Given the description of an element on the screen output the (x, y) to click on. 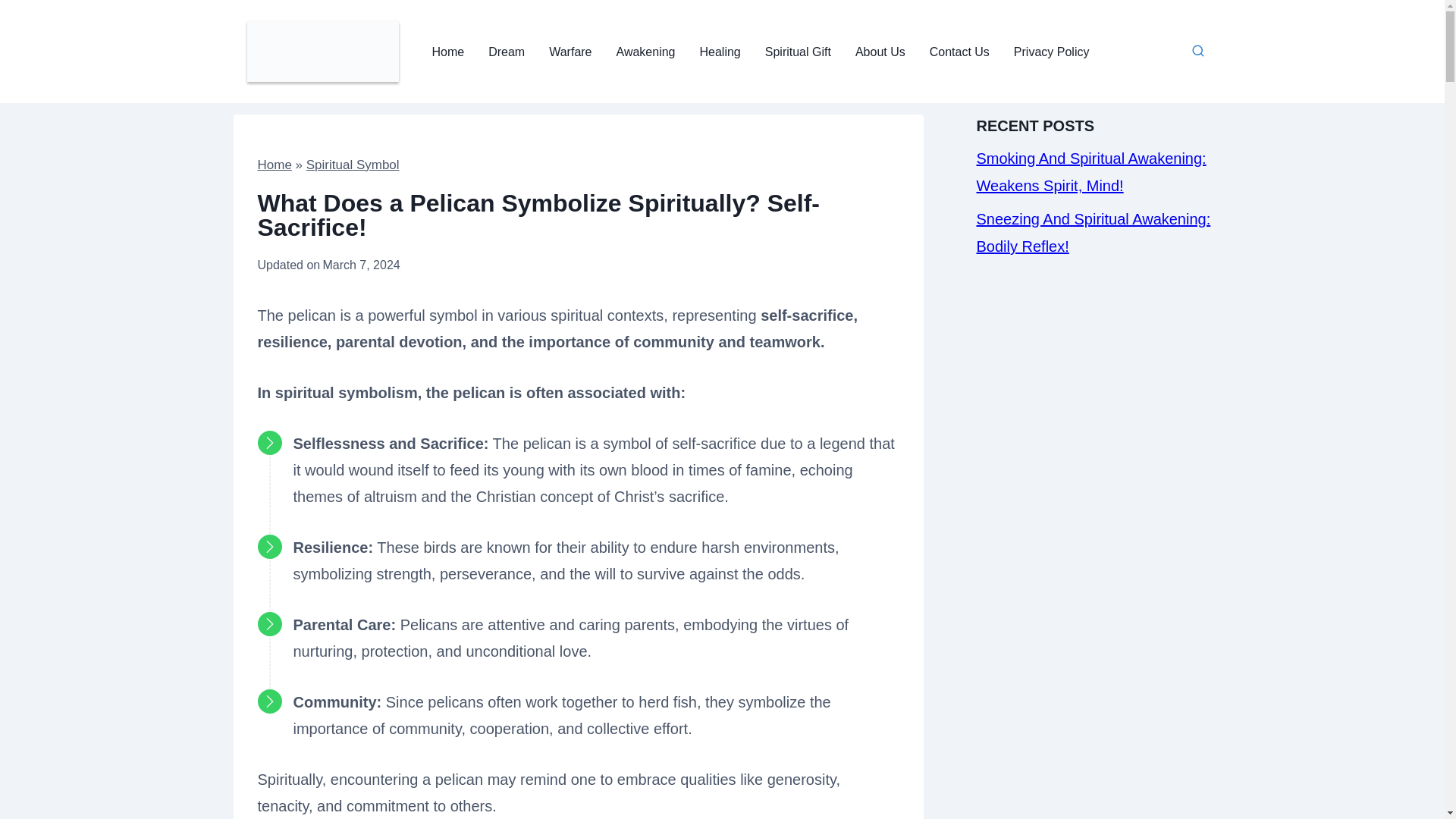
Warfare (570, 51)
Contact Us (959, 51)
Awakening (645, 51)
Dream (506, 51)
Home (274, 164)
Healing (719, 51)
Home (448, 51)
Spiritual Symbol (351, 164)
About Us (880, 51)
Privacy Policy (1051, 51)
